Given the description of an element on the screen output the (x, y) to click on. 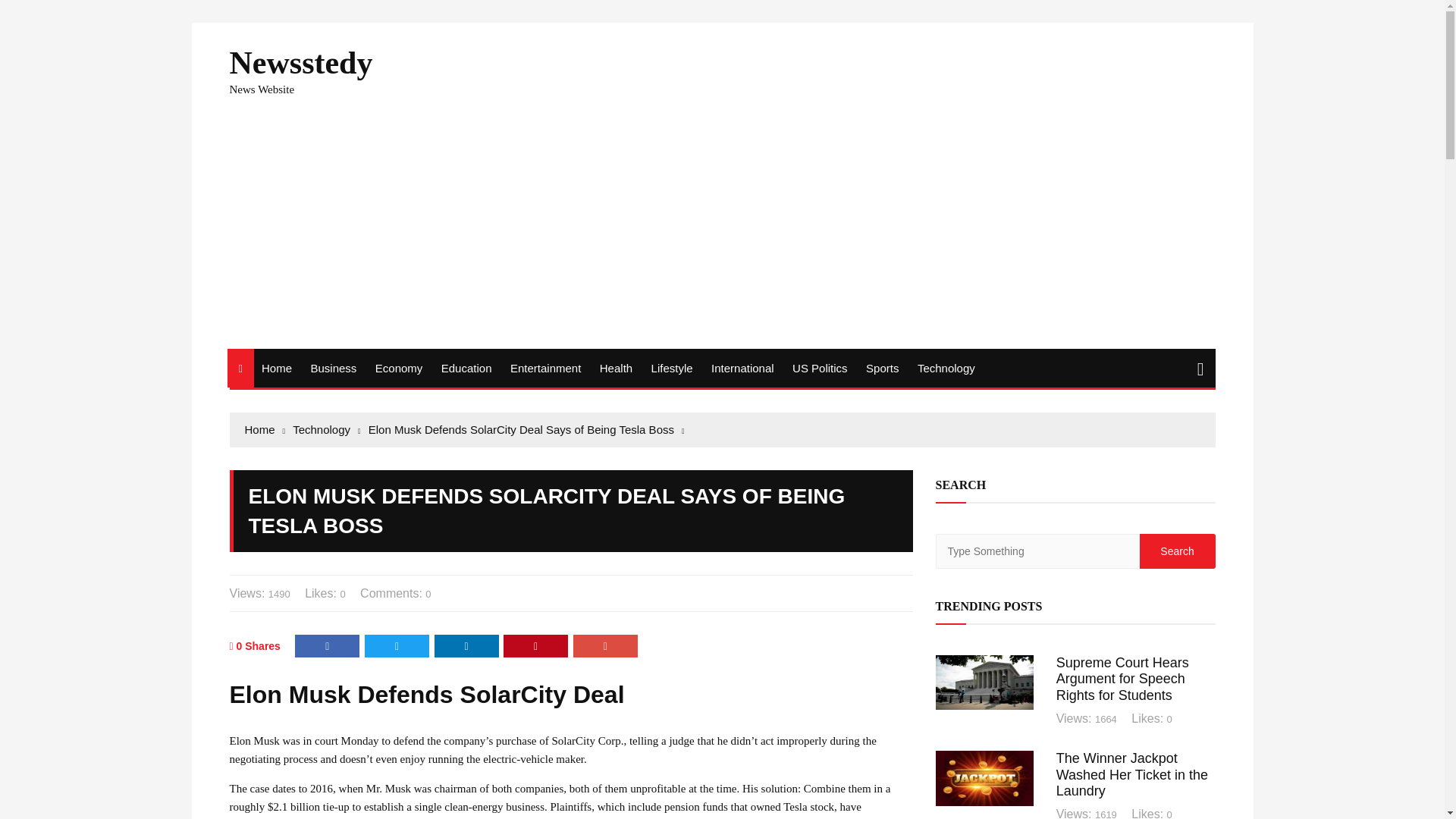
Newsstedy (300, 62)
Technology (326, 429)
Home (264, 429)
International (742, 367)
Search (1176, 550)
Business (333, 367)
Sports (882, 367)
Elon Musk Defends SolarCity Deal Says of Being Tesla Boss (526, 429)
Health (616, 367)
Economy (399, 367)
Lifestyle (671, 367)
US Politics (820, 367)
Entertainment (545, 367)
Home (276, 367)
